Given the description of an element on the screen output the (x, y) to click on. 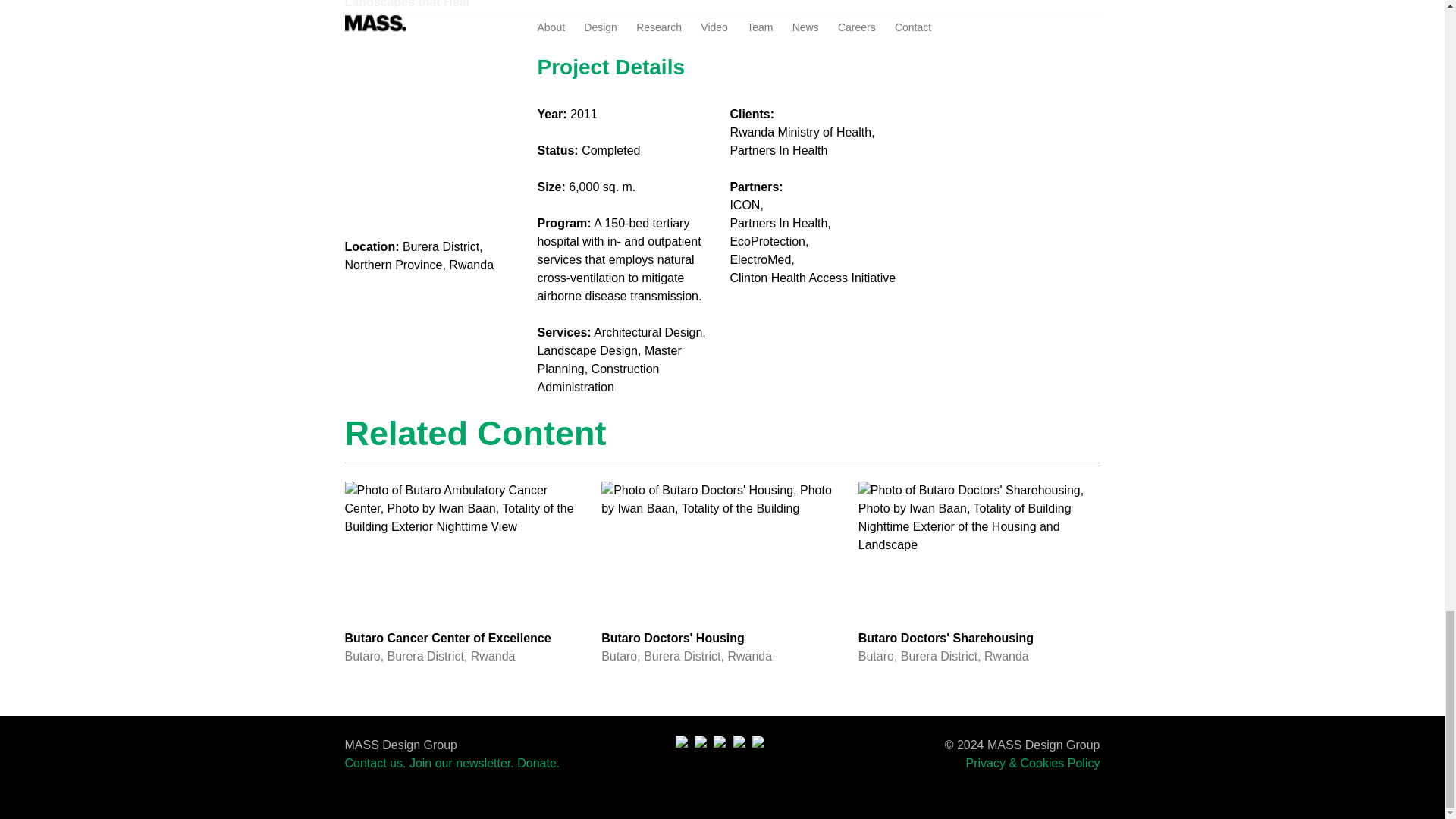
Contact us. (374, 762)
Donate. (537, 762)
Join our newsletter. (979, 573)
